Given the description of an element on the screen output the (x, y) to click on. 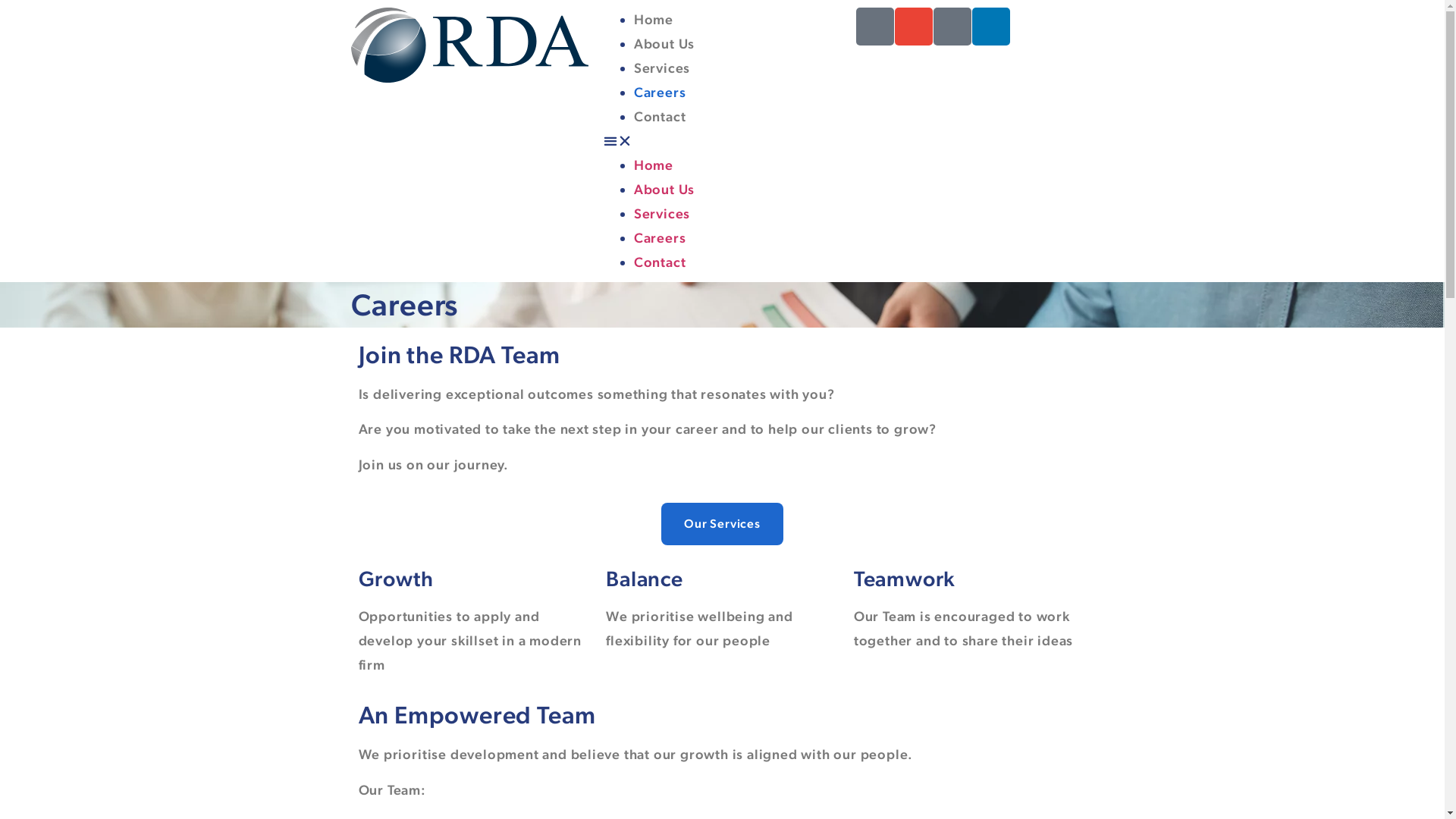
About Us Element type: text (663, 43)
Careers Element type: text (659, 92)
Contact Element type: text (659, 261)
Contact Element type: text (659, 116)
Services Element type: text (661, 67)
Careers Element type: text (659, 237)
Home Element type: text (653, 19)
Home Element type: text (653, 164)
Services Element type: text (661, 213)
Our Services Element type: text (722, 523)
About Us Element type: text (663, 189)
